Given the description of an element on the screen output the (x, y) to click on. 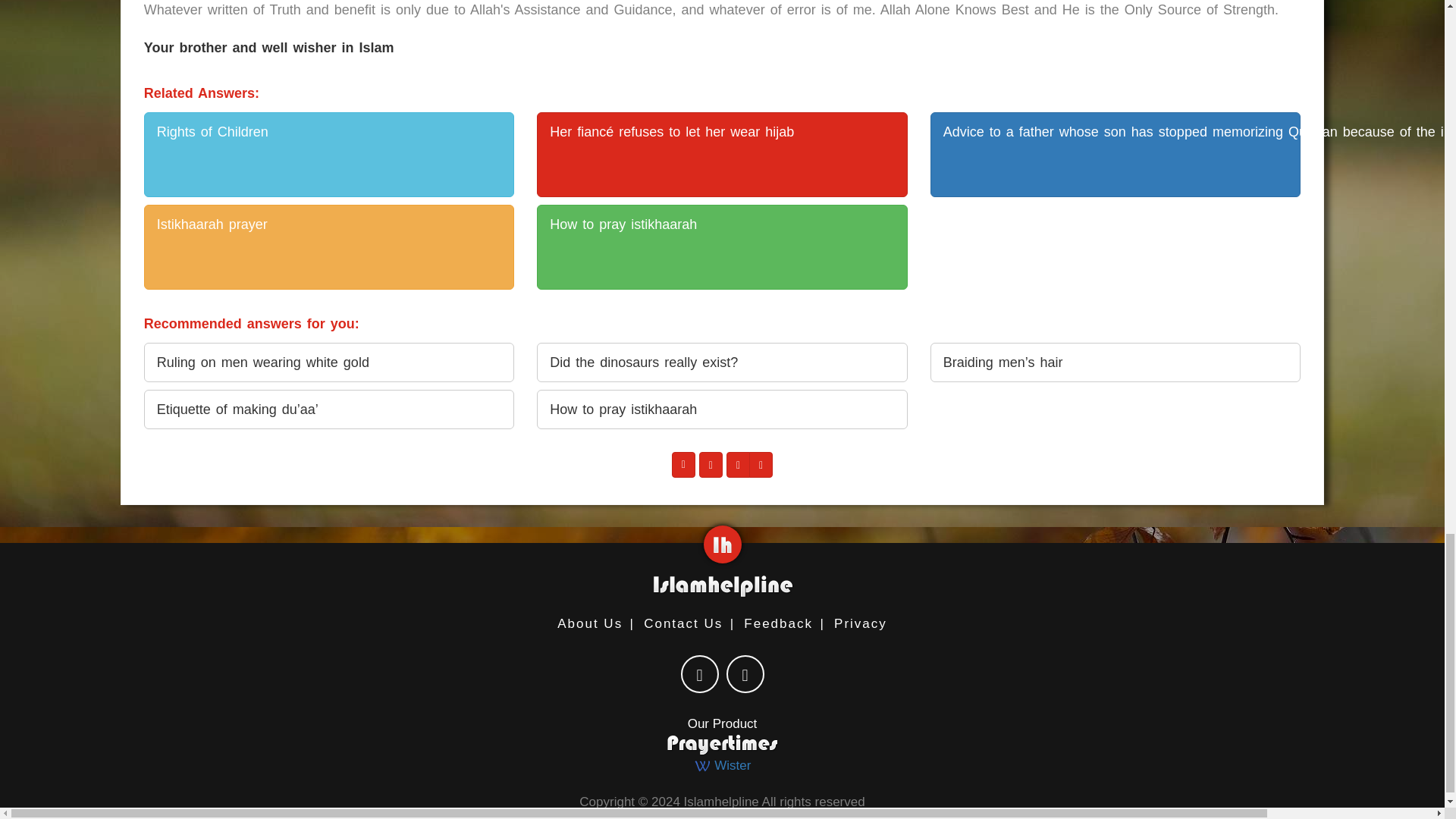
Rights of Children (328, 154)
How to pray istikhaarah (722, 246)
Ruling on men wearing white gold (328, 362)
Istikhaarah prayer (328, 246)
